Given the description of an element on the screen output the (x, y) to click on. 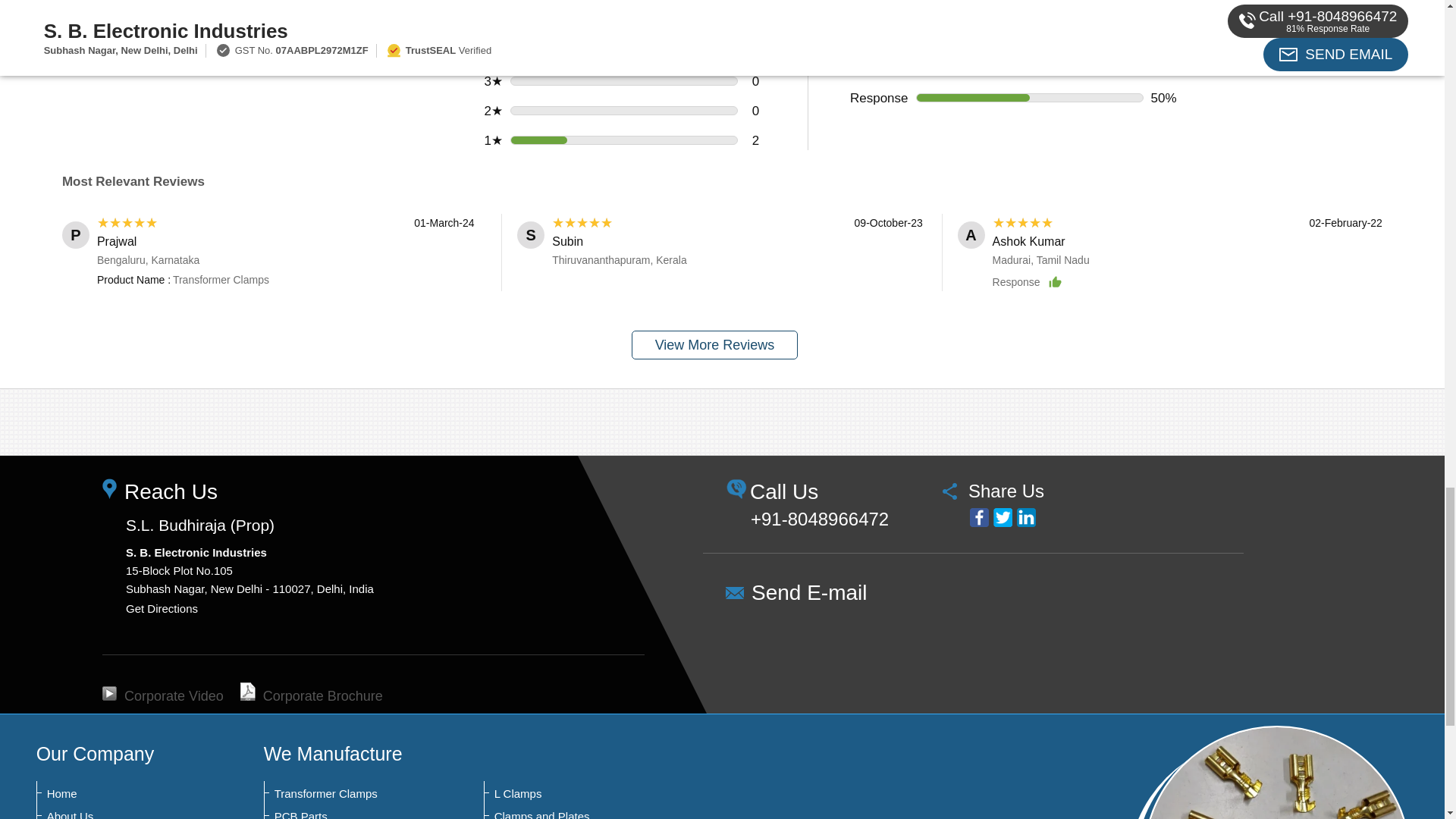
Corporate Brochure (311, 695)
Facebook (978, 517)
Get Directions (161, 608)
Twitter (1001, 517)
Corporate Video (162, 695)
3.9 out of 5 Votes (292, 21)
View More Reviews (714, 344)
LinkedIn (1025, 517)
